Given the description of an element on the screen output the (x, y) to click on. 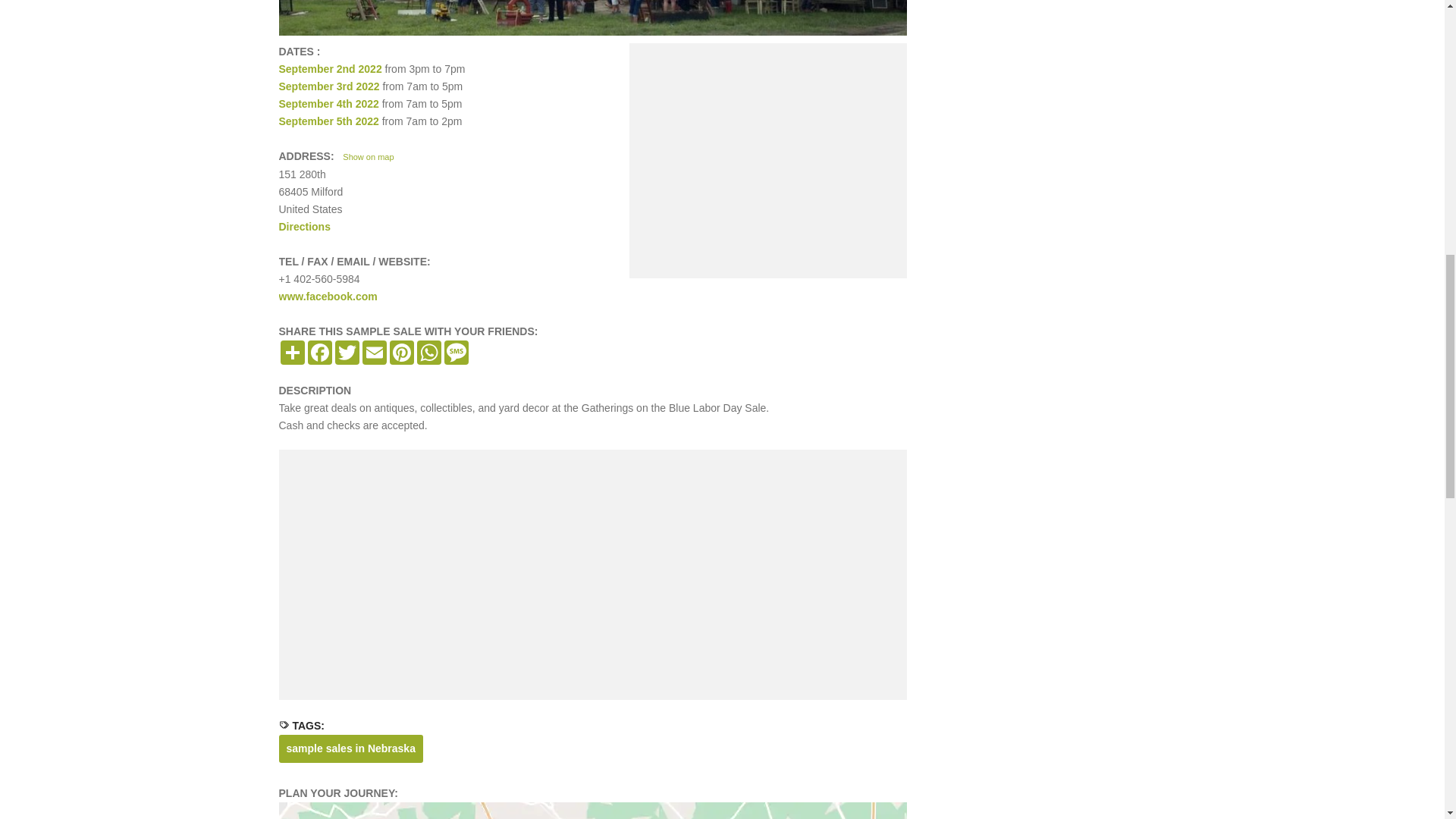
Click here to visit the site (328, 296)
